Given the description of an element on the screen output the (x, y) to click on. 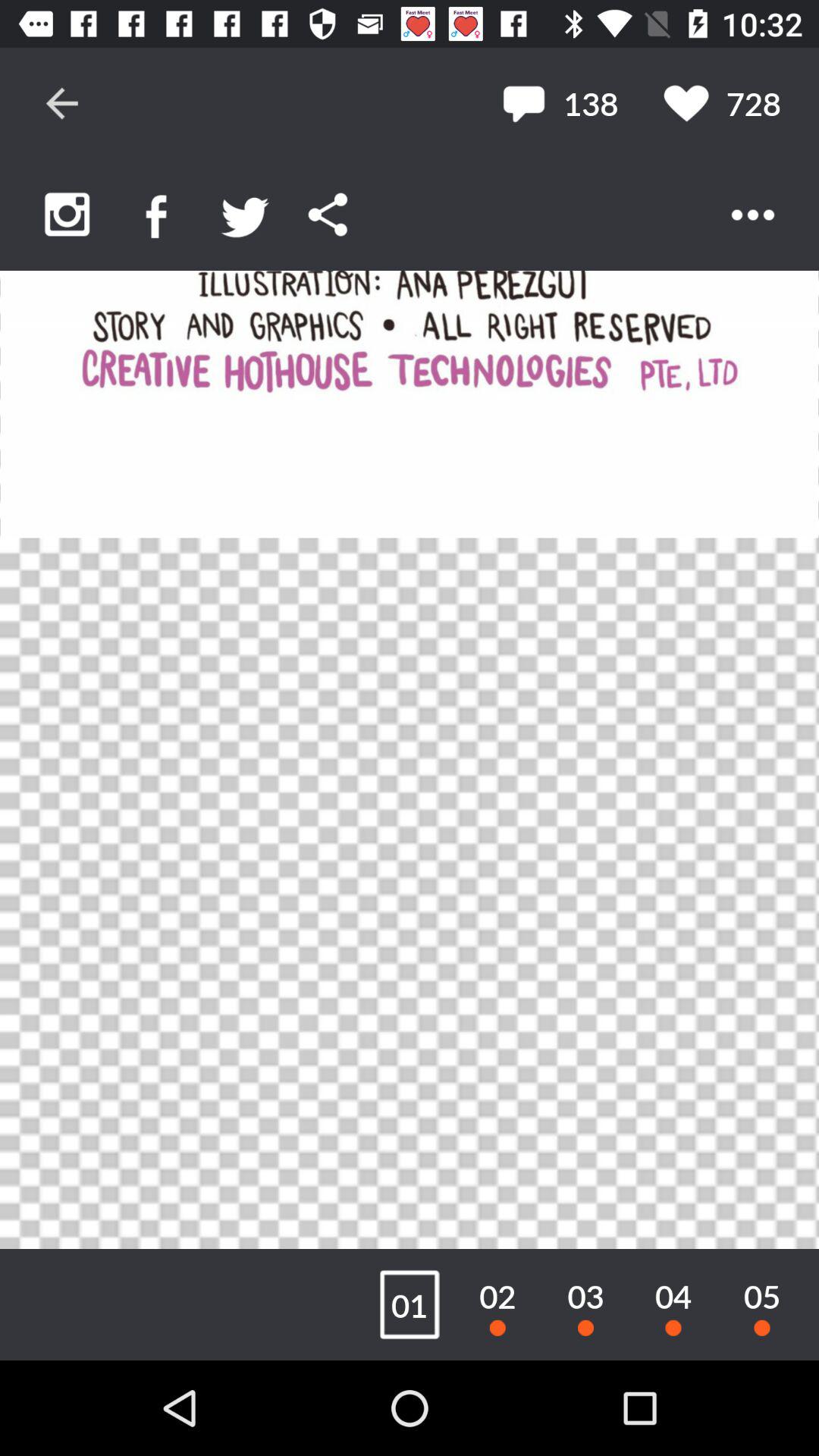
share web page (327, 214)
